Given the description of an element on the screen output the (x, y) to click on. 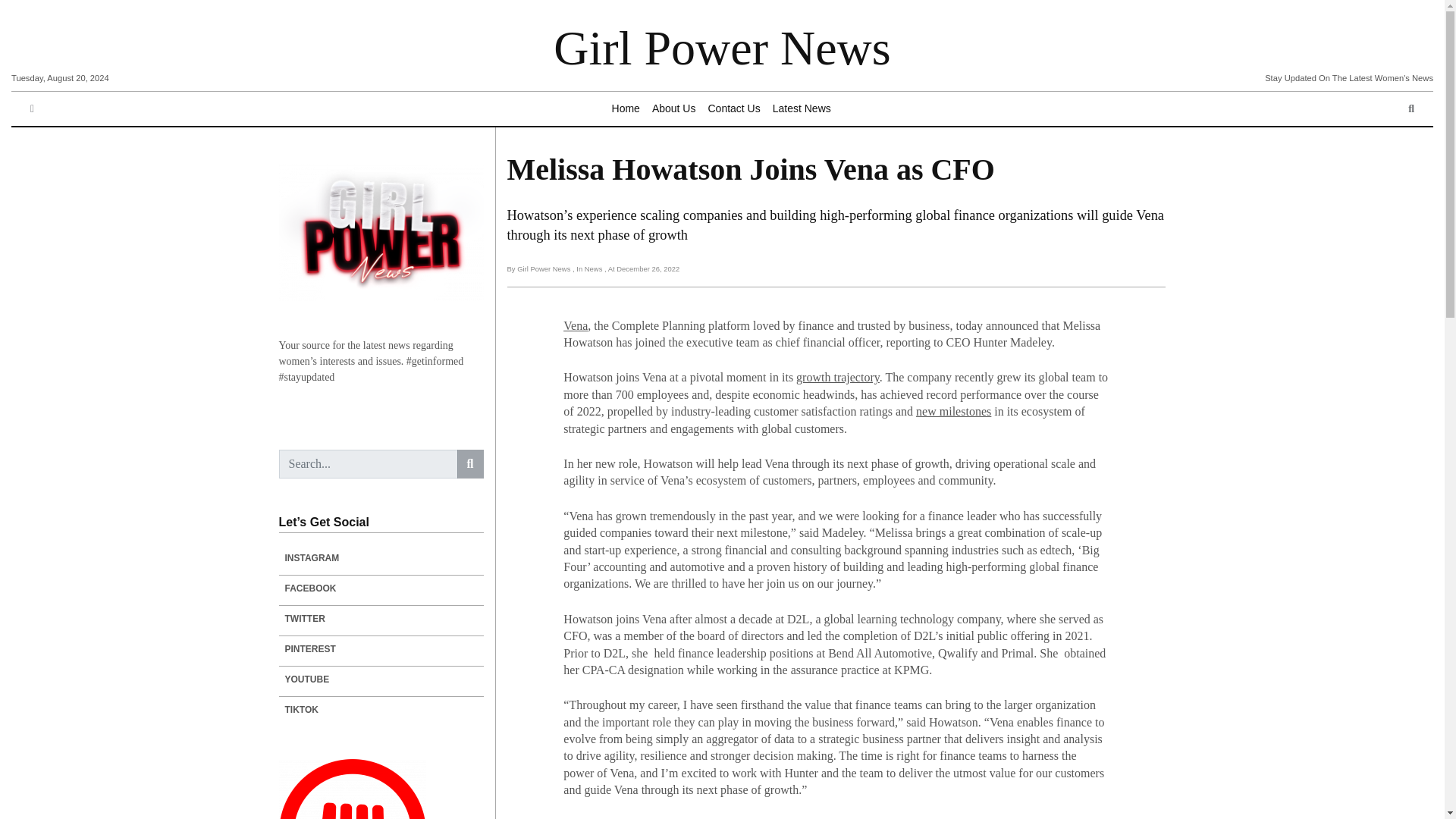
Girl Power News (721, 48)
Latest News (802, 108)
TIKTOK (381, 709)
YOUTUBE (381, 679)
Contact Us (733, 108)
Latest News (802, 108)
Contact Us (733, 108)
TWITTER (381, 618)
About Us (673, 108)
FACEBOOK (381, 588)
